Given the description of an element on the screen output the (x, y) to click on. 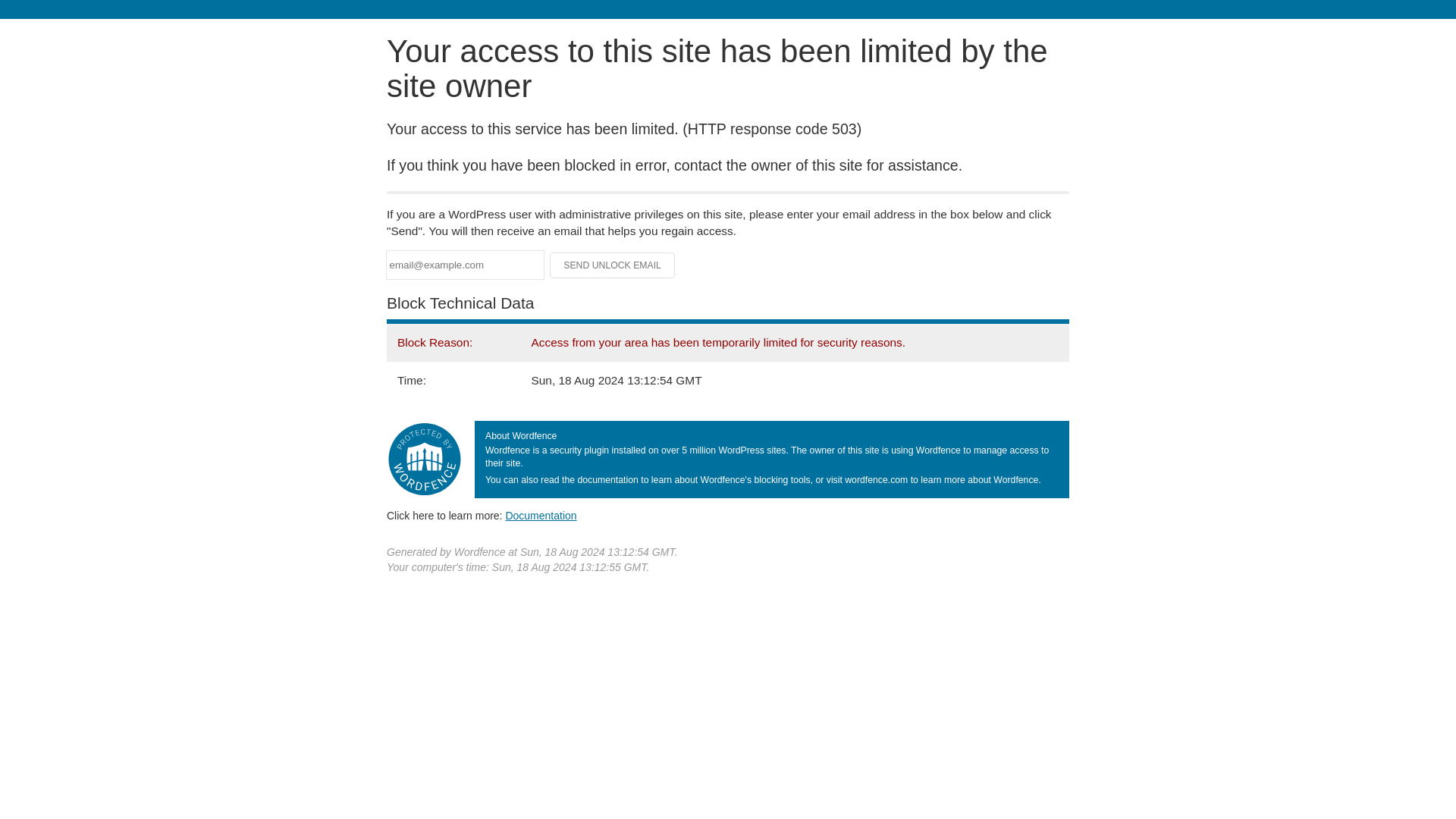
Documentation (540, 515)
Send Unlock Email (612, 265)
Send Unlock Email (612, 265)
